Given the description of an element on the screen output the (x, y) to click on. 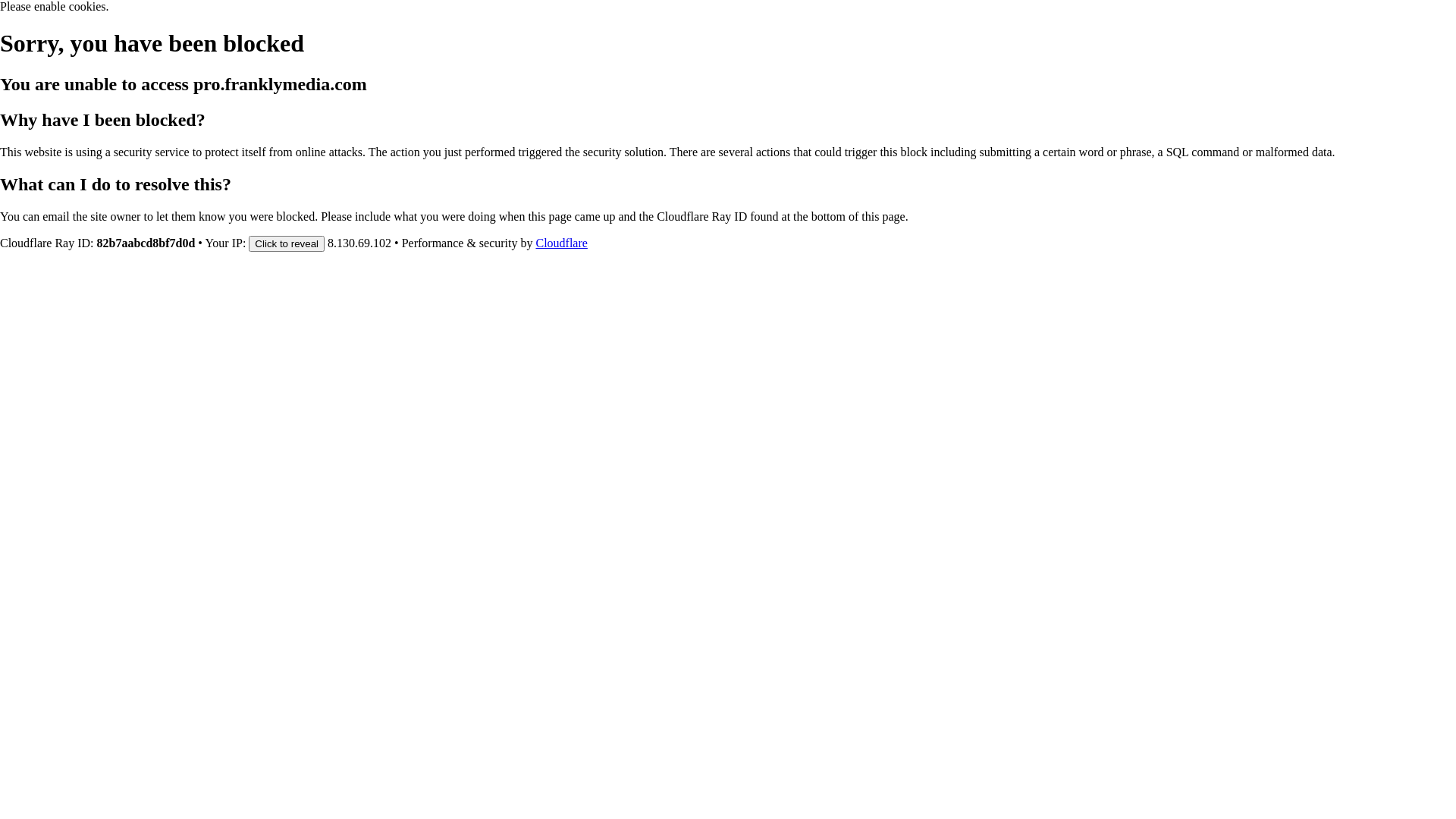
Cloudflare Element type: text (560, 242)
Click to reveal Element type: text (286, 243)
